Given the description of an element on the screen output the (x, y) to click on. 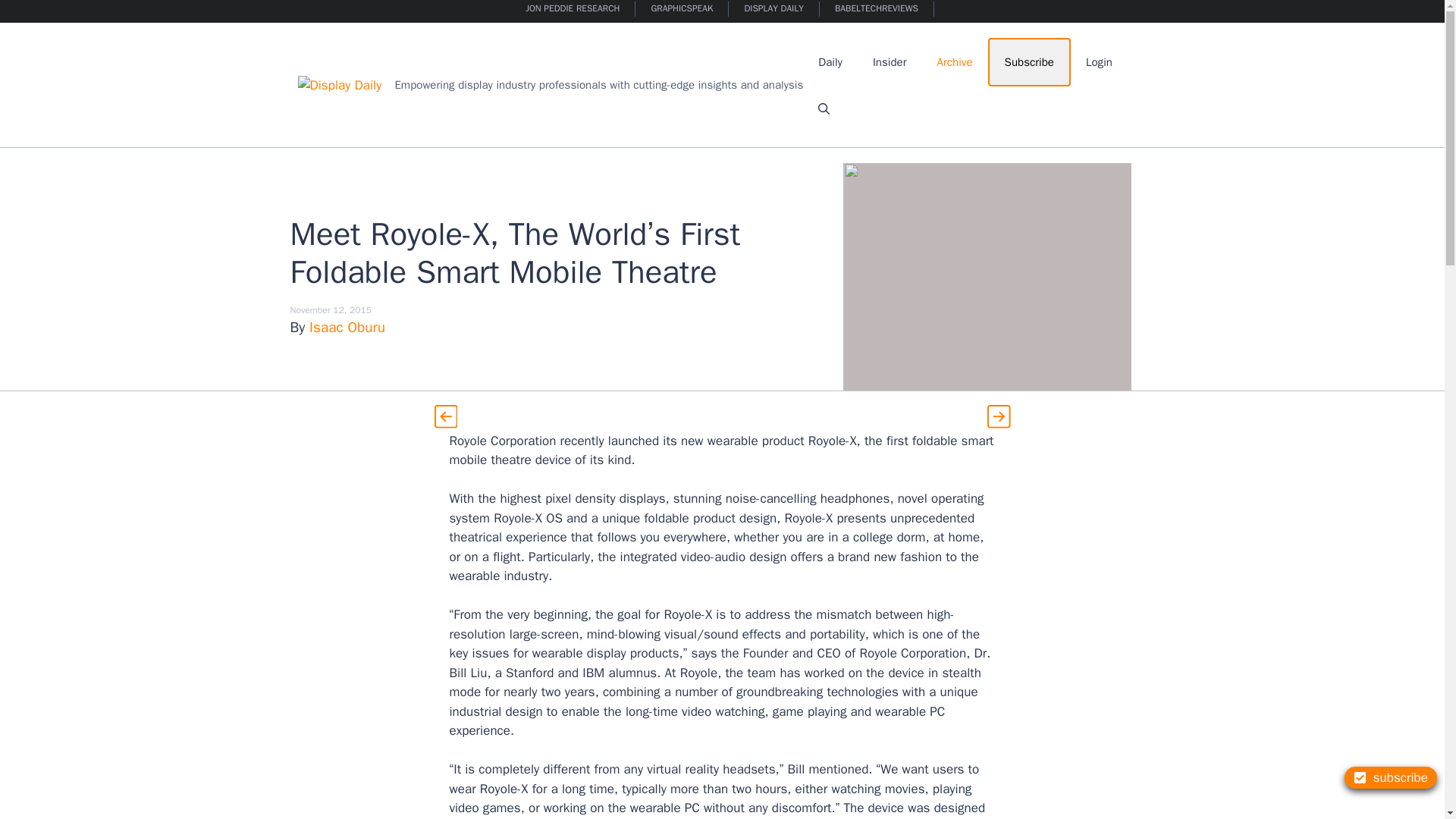
Subscribe (1029, 62)
BABELTECHREVIEWS (876, 8)
GRAPHICSPEAK (681, 8)
Daily (830, 62)
Login (1098, 62)
DISPLAY DAILY (773, 8)
subscribe (1390, 776)
JON PEDDIE RESEARCH (572, 8)
Insider (889, 62)
subscribe (1390, 776)
Archive (954, 62)
Isaac Oburu (346, 327)
